Given the description of an element on the screen output the (x, y) to click on. 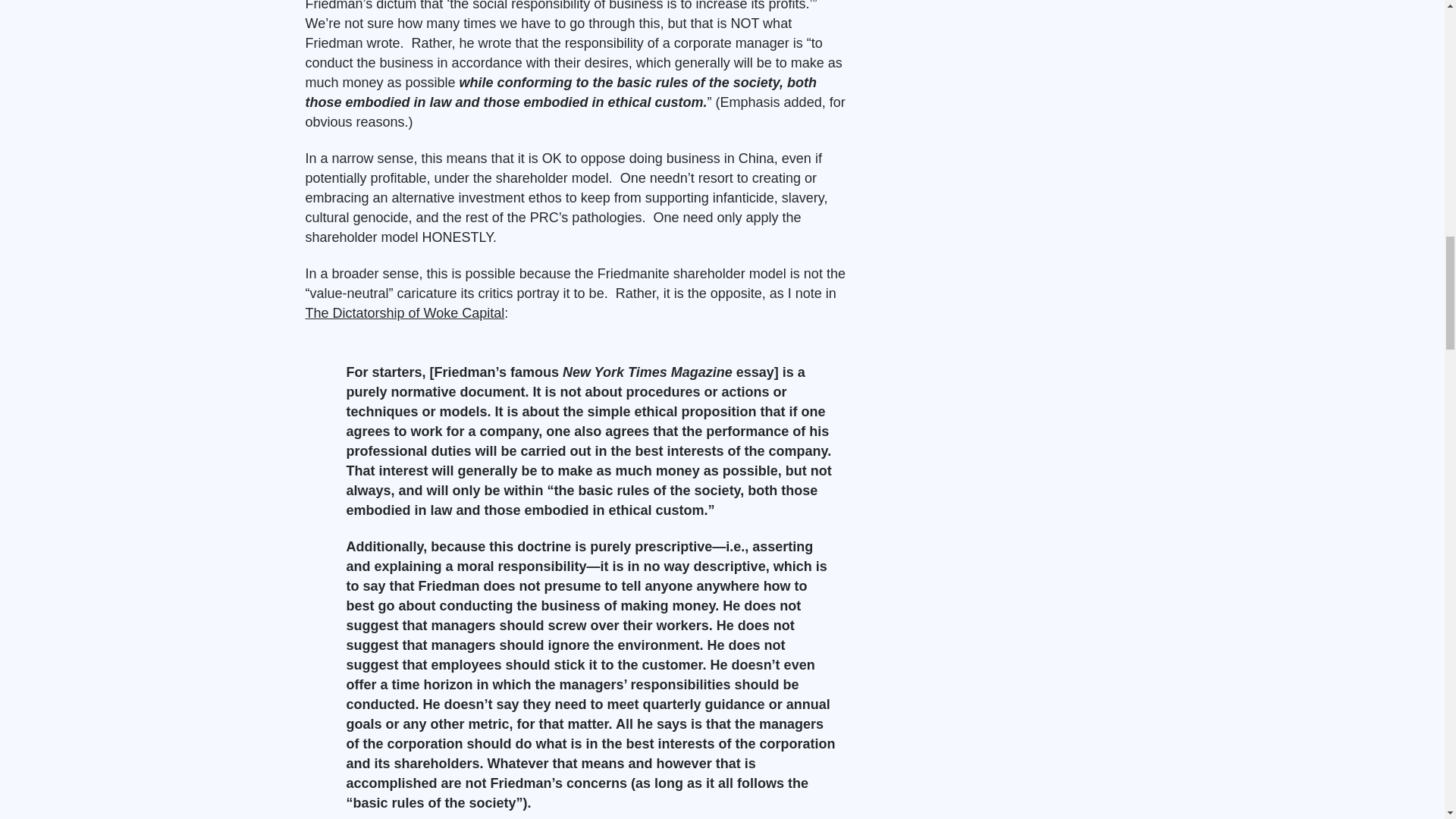
The Dictatorship of Woke Capital (403, 313)
